Given the description of an element on the screen output the (x, y) to click on. 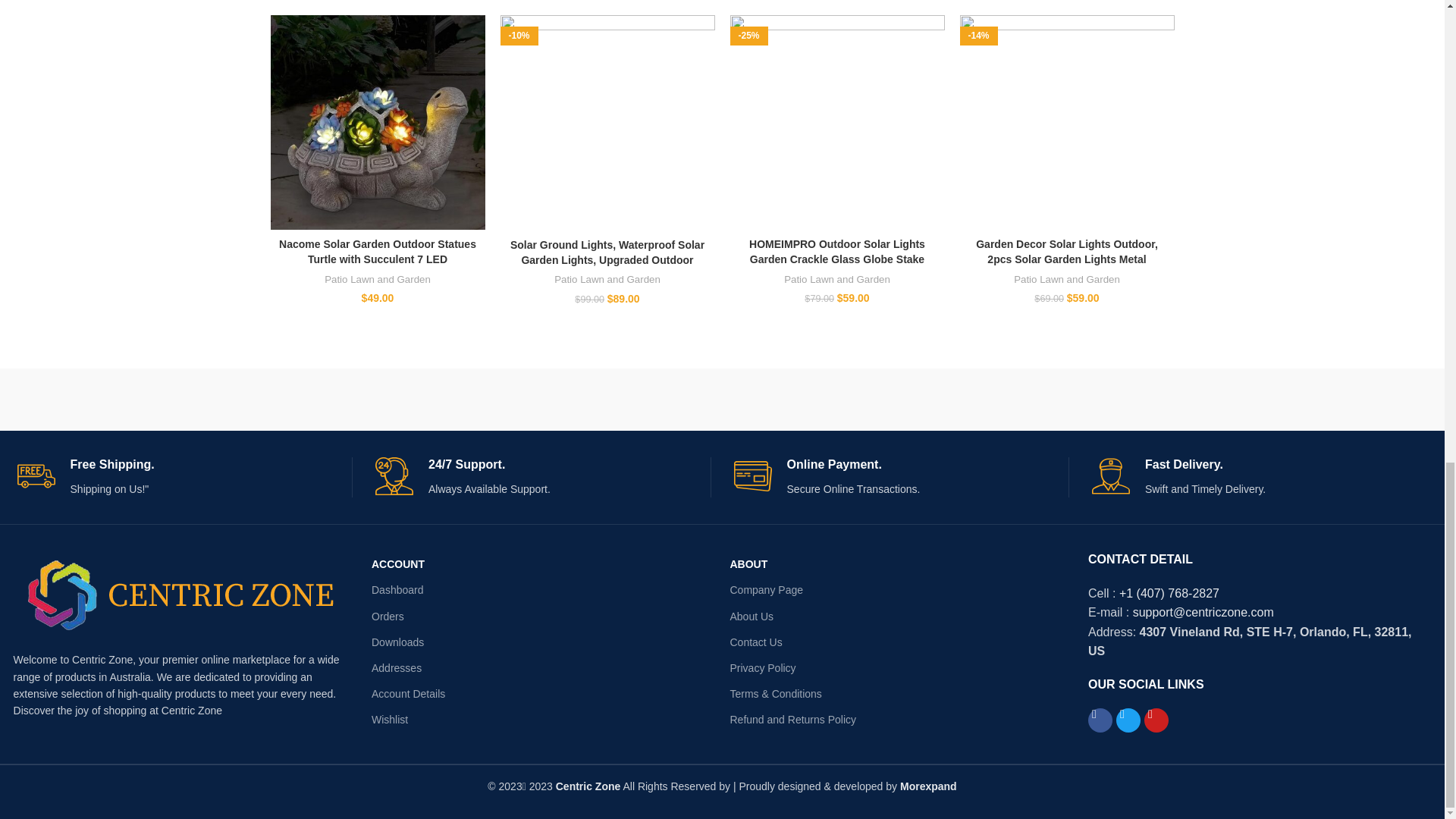
Louis Poulsen (520, 399)
Vitra (114, 399)
Magisso (317, 399)
